Given the description of an element on the screen output the (x, y) to click on. 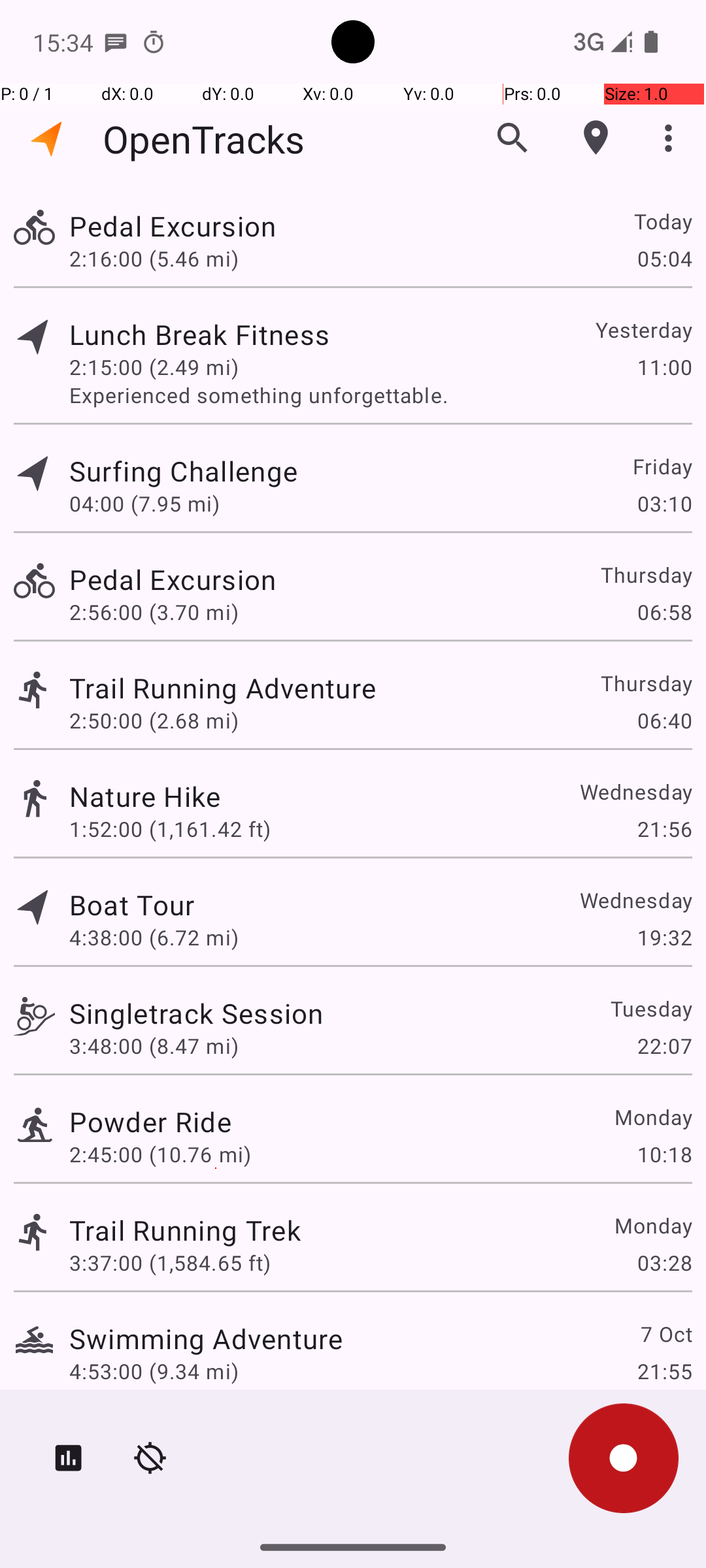
Pedal Excursion Element type: android.widget.TextView (172, 225)
2:16:00 (5.46 mi) Element type: android.widget.TextView (153, 258)
05:04 Element type: android.widget.TextView (664, 258)
Lunch Break Fitness Element type: android.widget.TextView (199, 333)
2:15:00 (2.49 mi) Element type: android.widget.TextView (153, 366)
Experienced something unforgettable. Element type: android.widget.TextView (380, 394)
Surfing Challenge Element type: android.widget.TextView (183, 470)
04:00 (7.95 mi) Element type: android.widget.TextView (144, 503)
03:10 Element type: android.widget.TextView (664, 503)
2:56:00 (3.70 mi) Element type: android.widget.TextView (153, 611)
06:58 Element type: android.widget.TextView (664, 611)
Trail Running Adventure Element type: android.widget.TextView (222, 687)
2:50:00 (2.68 mi) Element type: android.widget.TextView (153, 720)
06:40 Element type: android.widget.TextView (664, 720)
Nature Hike Element type: android.widget.TextView (144, 795)
1:52:00 (1,161.42 ft) Element type: android.widget.TextView (169, 828)
21:56 Element type: android.widget.TextView (664, 828)
Boat Tour Element type: android.widget.TextView (131, 904)
4:38:00 (6.72 mi) Element type: android.widget.TextView (153, 937)
19:32 Element type: android.widget.TextView (664, 937)
Singletrack Session Element type: android.widget.TextView (196, 1012)
3:48:00 (8.47 mi) Element type: android.widget.TextView (153, 1045)
22:07 Element type: android.widget.TextView (664, 1045)
Powder Ride Element type: android.widget.TextView (150, 1121)
2:45:00 (10.76 mi) Element type: android.widget.TextView (159, 1154)
10:18 Element type: android.widget.TextView (664, 1154)
Trail Running Trek Element type: android.widget.TextView (184, 1229)
3:37:00 (1,584.65 ft) Element type: android.widget.TextView (169, 1262)
03:28 Element type: android.widget.TextView (664, 1262)
Swimming Adventure Element type: android.widget.TextView (205, 1337)
4:53:00 (9.34 mi) Element type: android.widget.TextView (153, 1370)
21:55 Element type: android.widget.TextView (664, 1370)
